Given the description of an element on the screen output the (x, y) to click on. 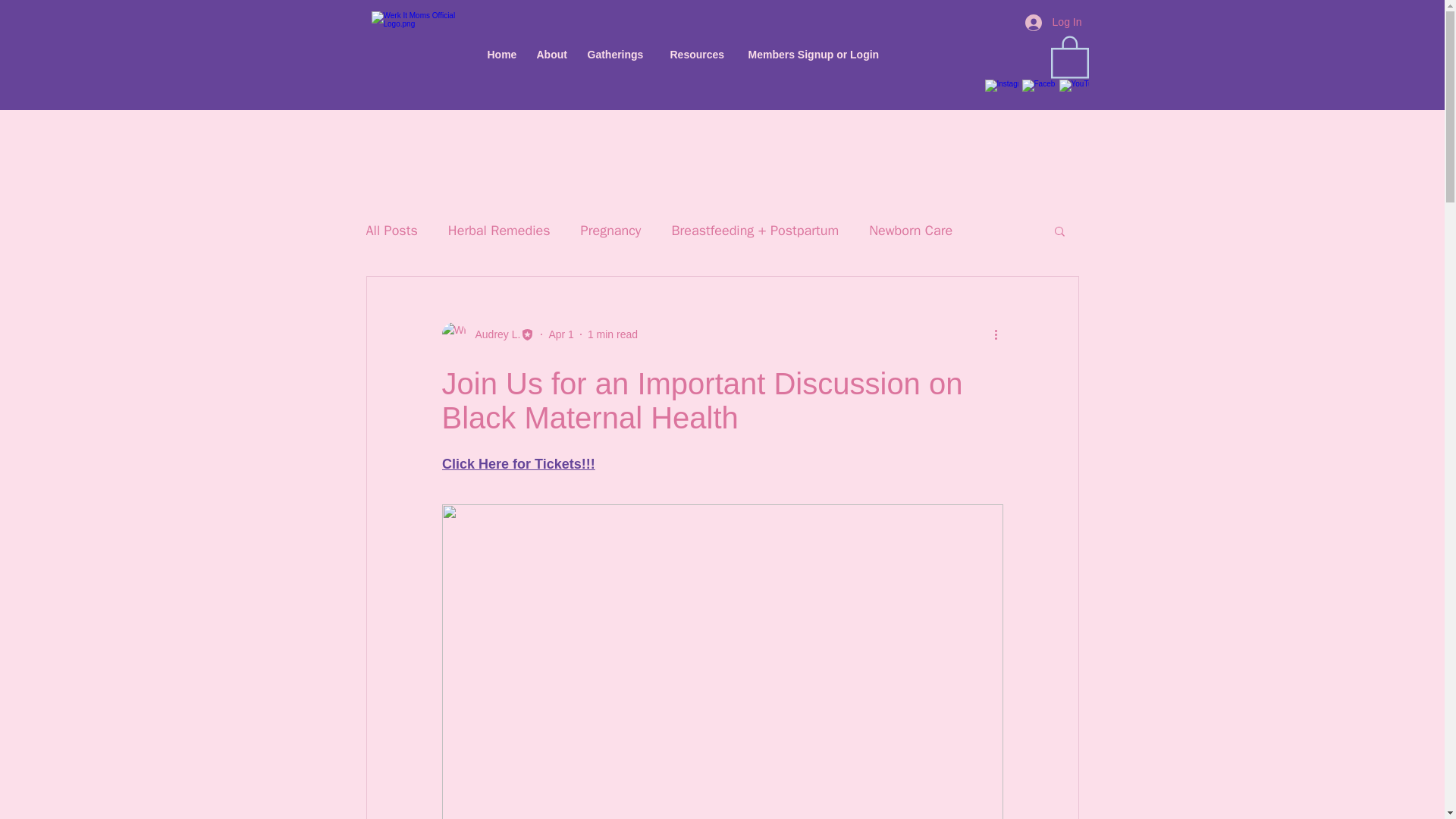
Gatherings (620, 54)
Resources (701, 54)
All Posts (390, 230)
Pregnancy (611, 230)
Apr 1 (560, 333)
Newborn Care (910, 230)
1 min read (612, 333)
Click Here for Tickets!!! (517, 463)
About (554, 54)
Herbal Remedies (499, 230)
Members Signup or Login (820, 54)
Log In (1053, 22)
Audrey L. (492, 333)
Home (503, 54)
Audrey L. (487, 334)
